Given the description of an element on the screen output the (x, y) to click on. 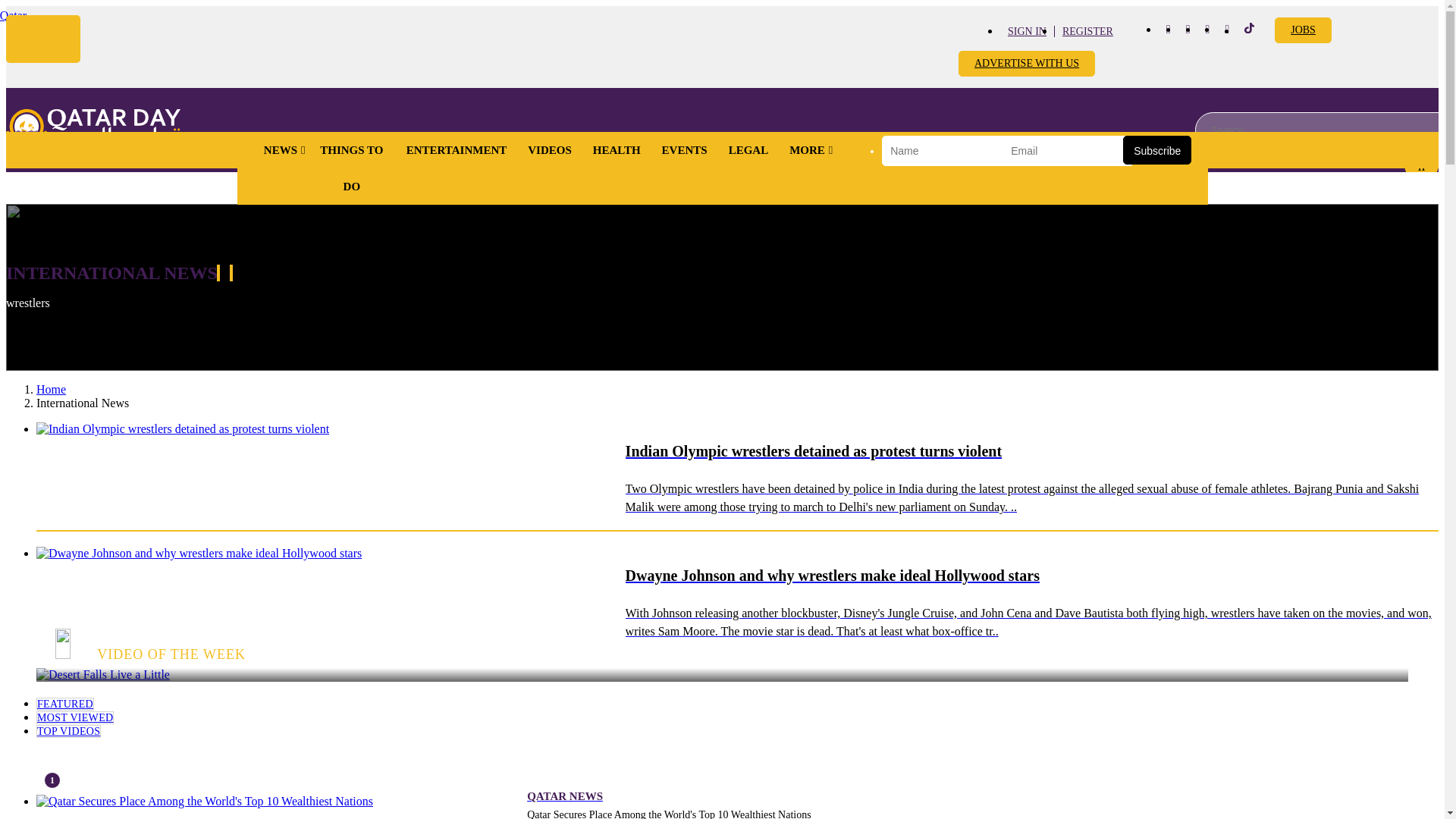
THINGS TO DO (351, 167)
JOBS (1303, 30)
ADVERTISE WITH US (1026, 63)
Instagram (1187, 29)
LEGAL (747, 149)
NEWS (280, 149)
LinkedIn (1226, 29)
Doha, Qatar (13, 15)
REGISTER (1087, 30)
Facebook (1167, 29)
